Given the description of an element on the screen output the (x, y) to click on. 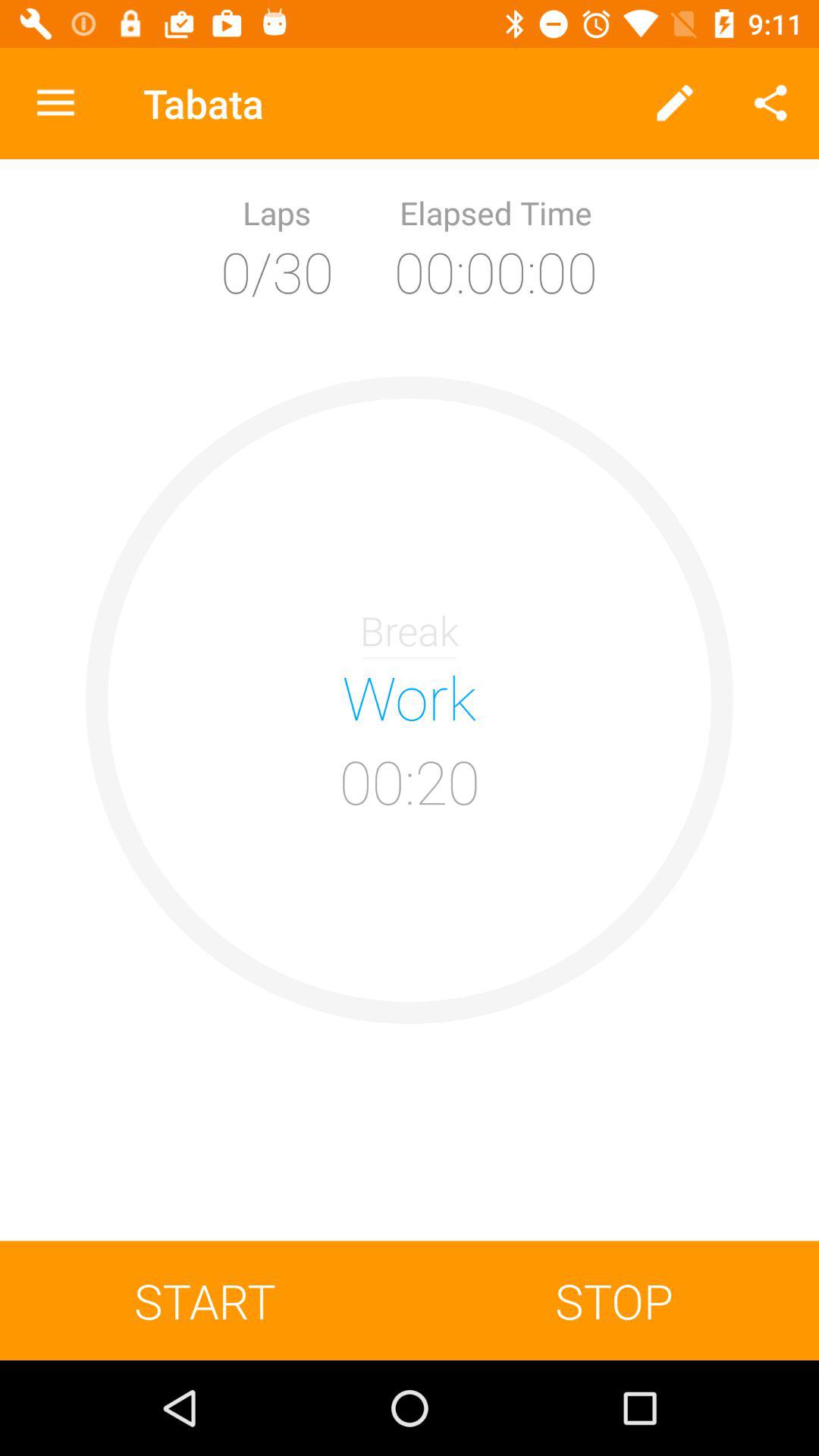
open the icon next to the tabata (675, 103)
